Given the description of an element on the screen output the (x, y) to click on. 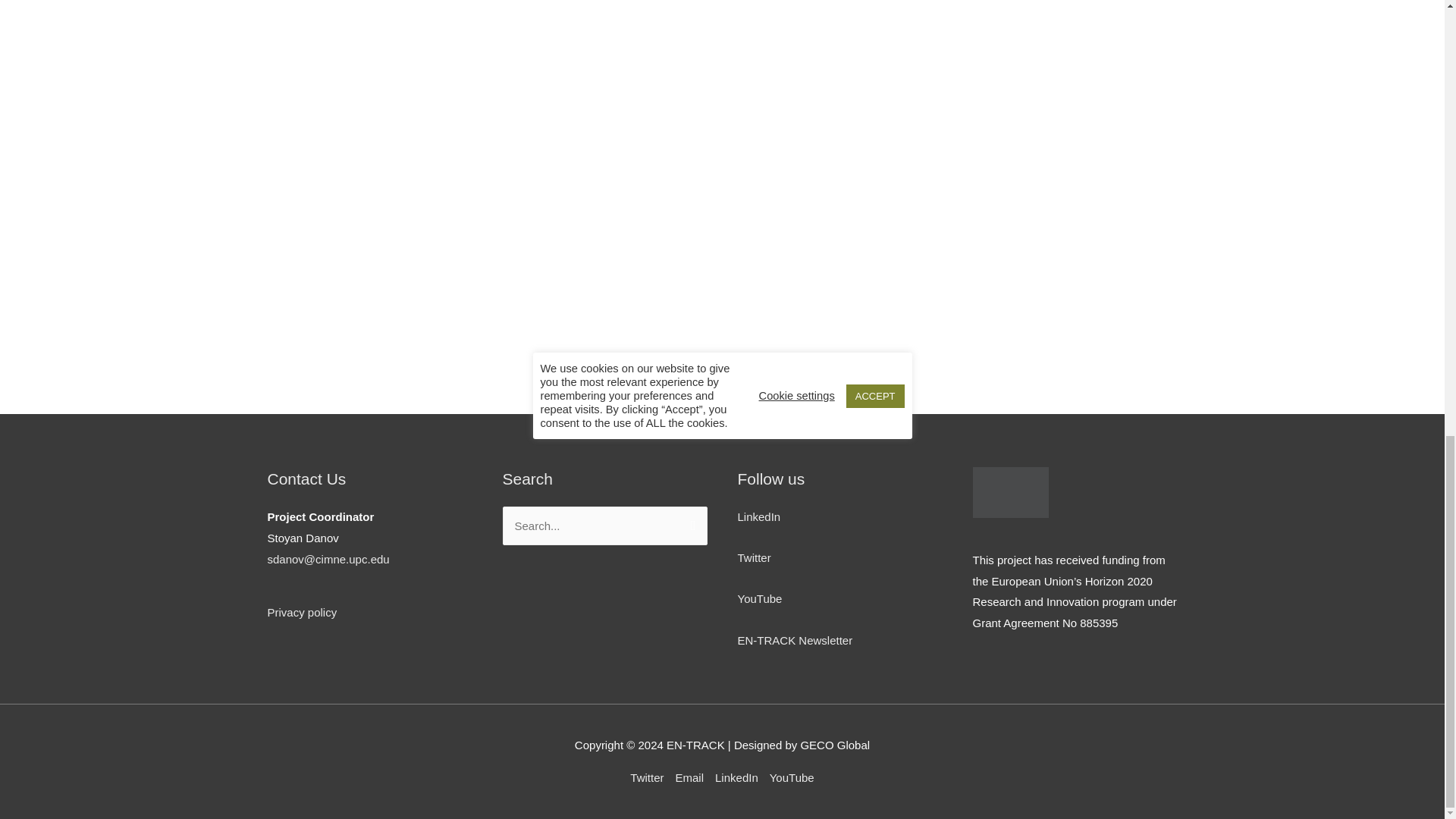
EN-TRACK Newsletter (793, 640)
Twitter (649, 777)
YouTube (758, 598)
LinkedIn (737, 777)
Privacy policy (301, 612)
Twitter (753, 557)
Search (689, 521)
Search (689, 521)
YouTube (787, 777)
Email (689, 777)
LinkedIn (758, 516)
Search (689, 521)
